Given the description of an element on the screen output the (x, y) to click on. 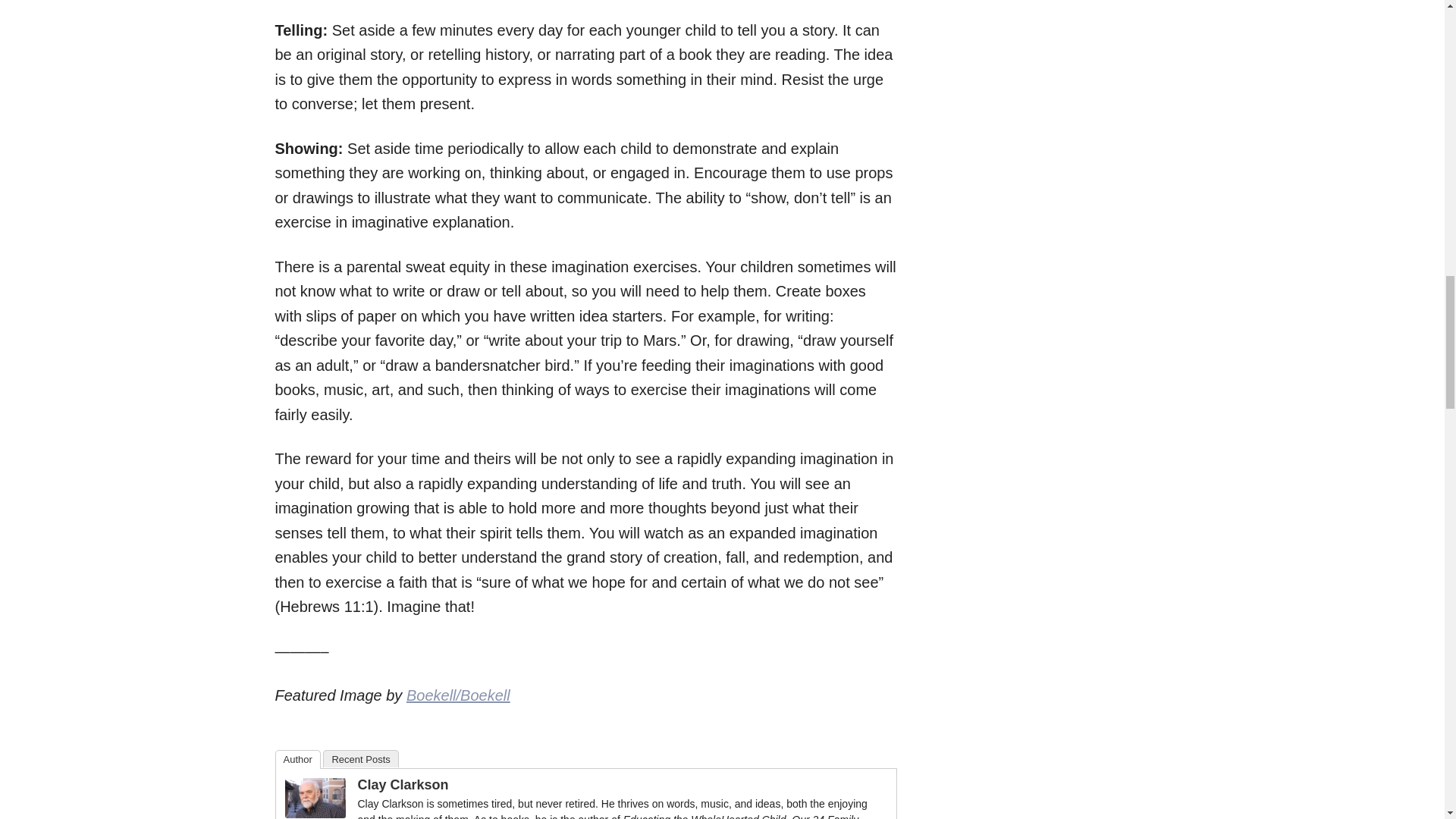
Clay Clarkson (403, 784)
Recent Posts (360, 758)
Clay Clarkson (315, 811)
Author (297, 759)
